Given the description of an element on the screen output the (x, y) to click on. 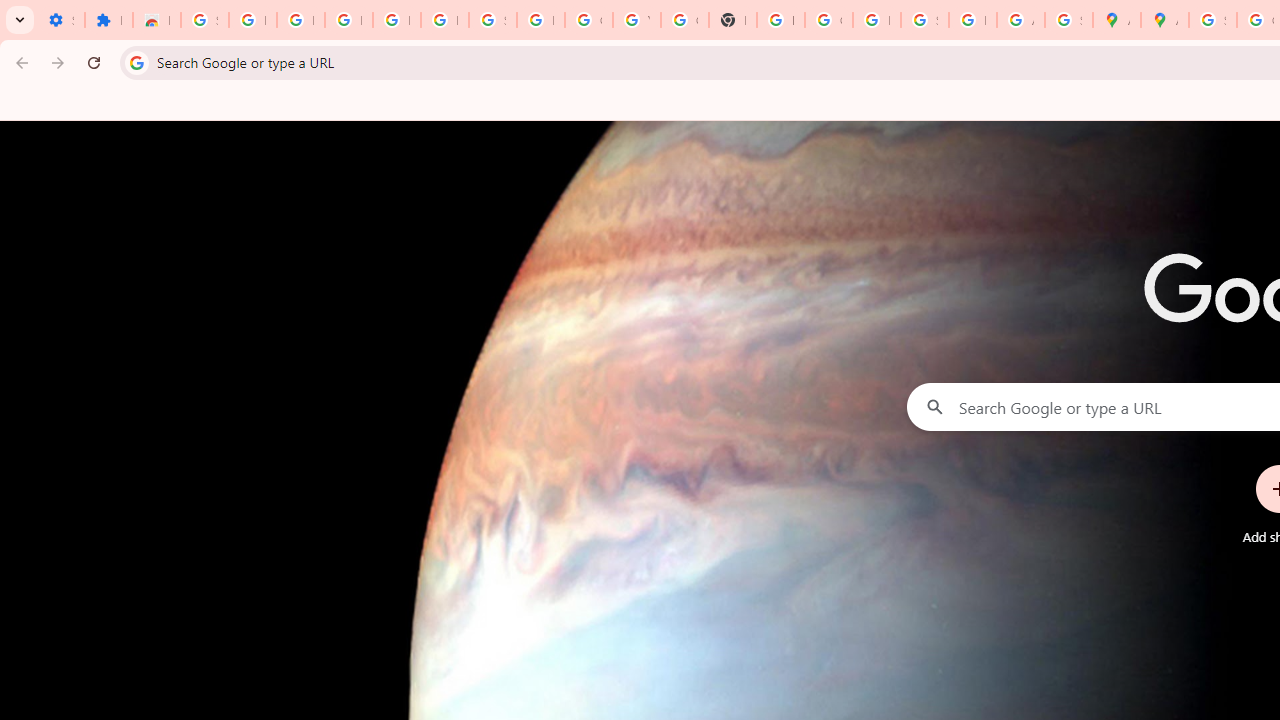
Back (19, 62)
Sign in - Google Accounts (492, 20)
Settings - On startup (60, 20)
Google Account (588, 20)
YouTube (636, 20)
System (10, 11)
Learn how to find your photos - Google Photos Help (396, 20)
Sign in - Google Accounts (1212, 20)
New Tab (732, 20)
Search tabs (20, 20)
https://scholar.google.com/ (780, 20)
